Given the description of an element on the screen output the (x, y) to click on. 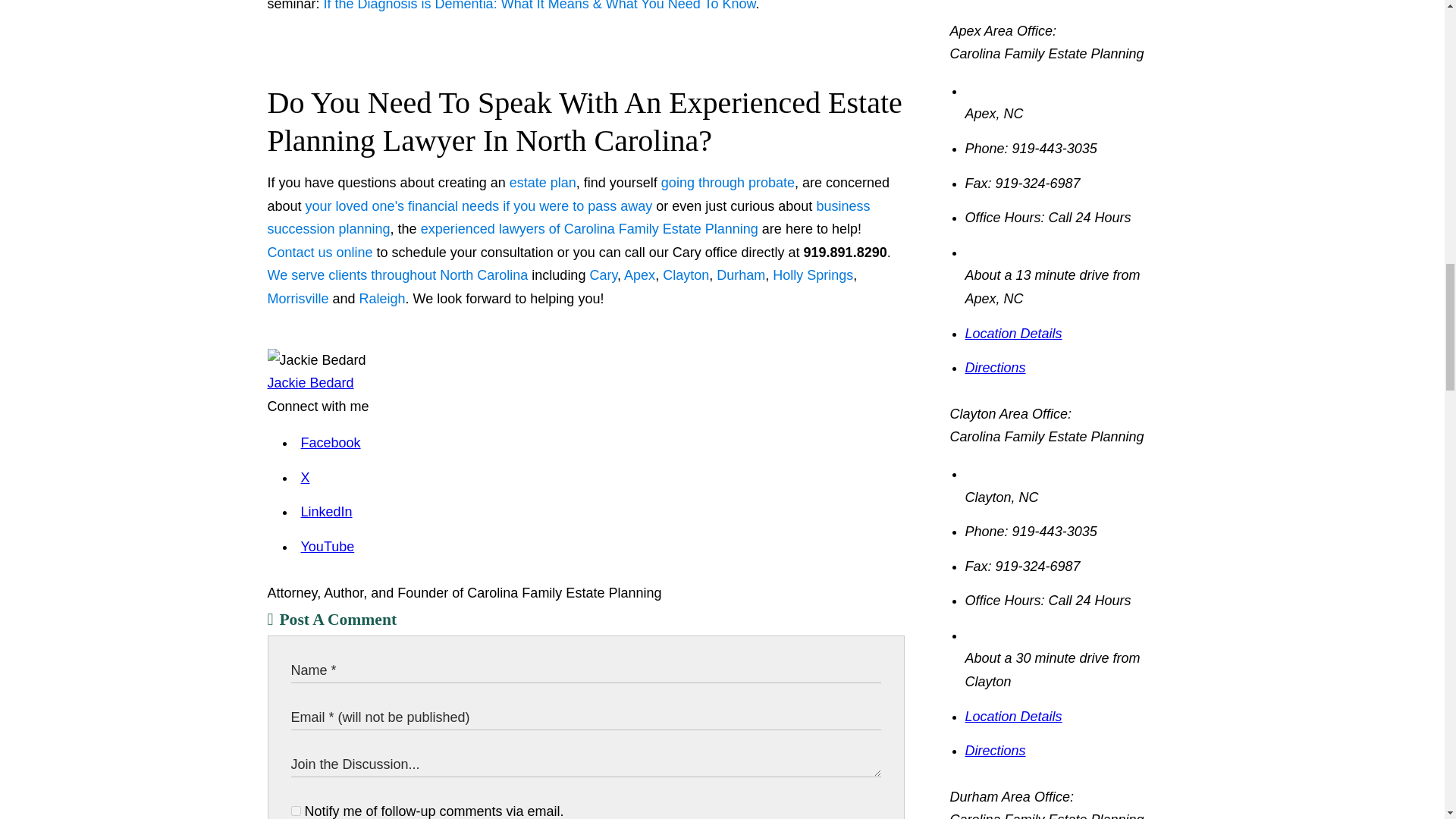
1 (296, 810)
Connect with me on LinkedIn (325, 511)
Find me on Facebook (329, 442)
Watch me on YouTube (326, 546)
